Given the description of an element on the screen output the (x, y) to click on. 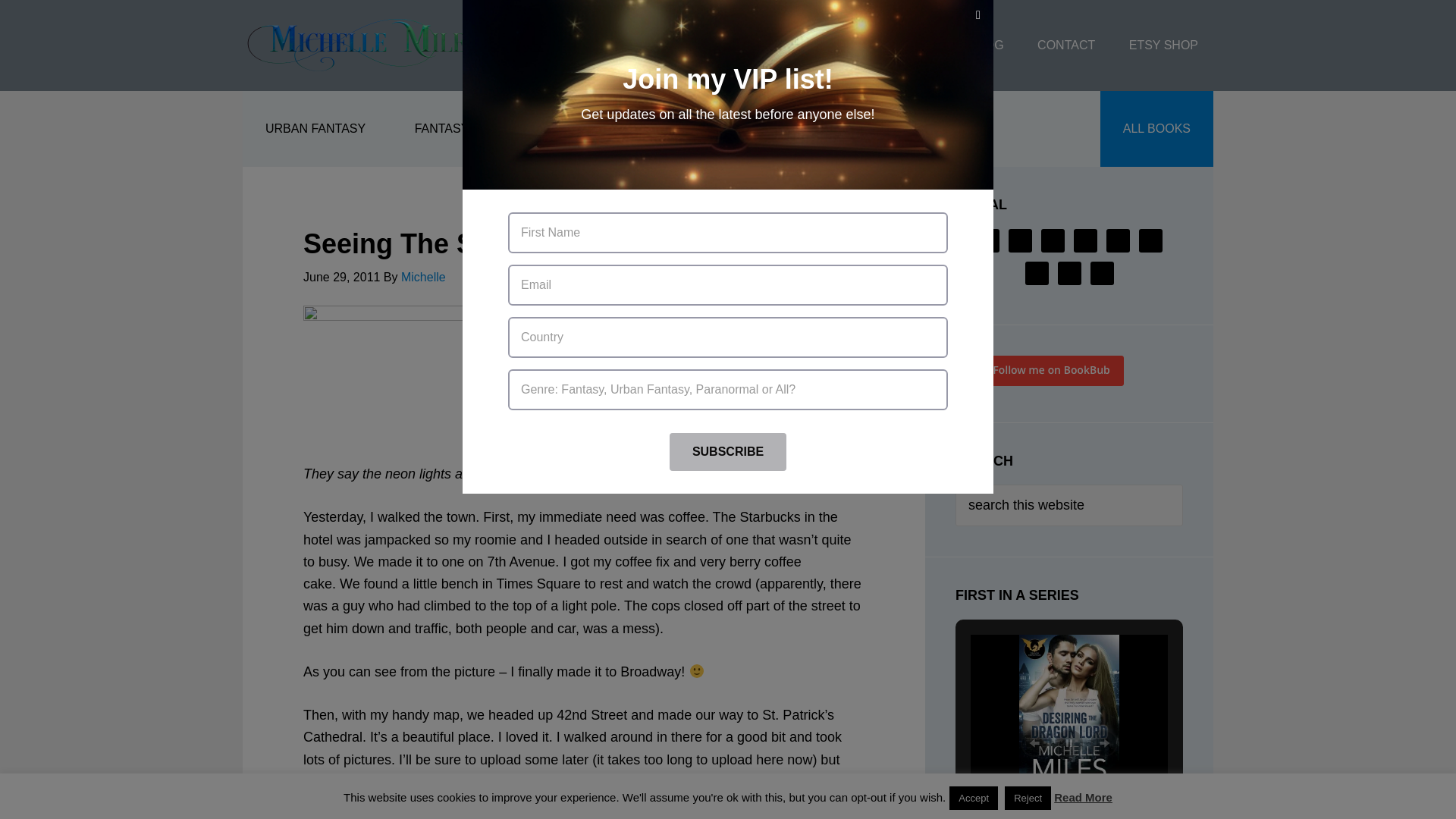
Michelle Miles Author (363, 45)
ETSY SHOP (1162, 45)
YOUNG ADULT (759, 128)
CONTACT (1065, 45)
PARANORMAL ROMANCE (591, 128)
ALL BOOKS (1156, 128)
Michelle (423, 277)
URBAN FANTASY (315, 128)
FANTASY (441, 128)
